Given the description of an element on the screen output the (x, y) to click on. 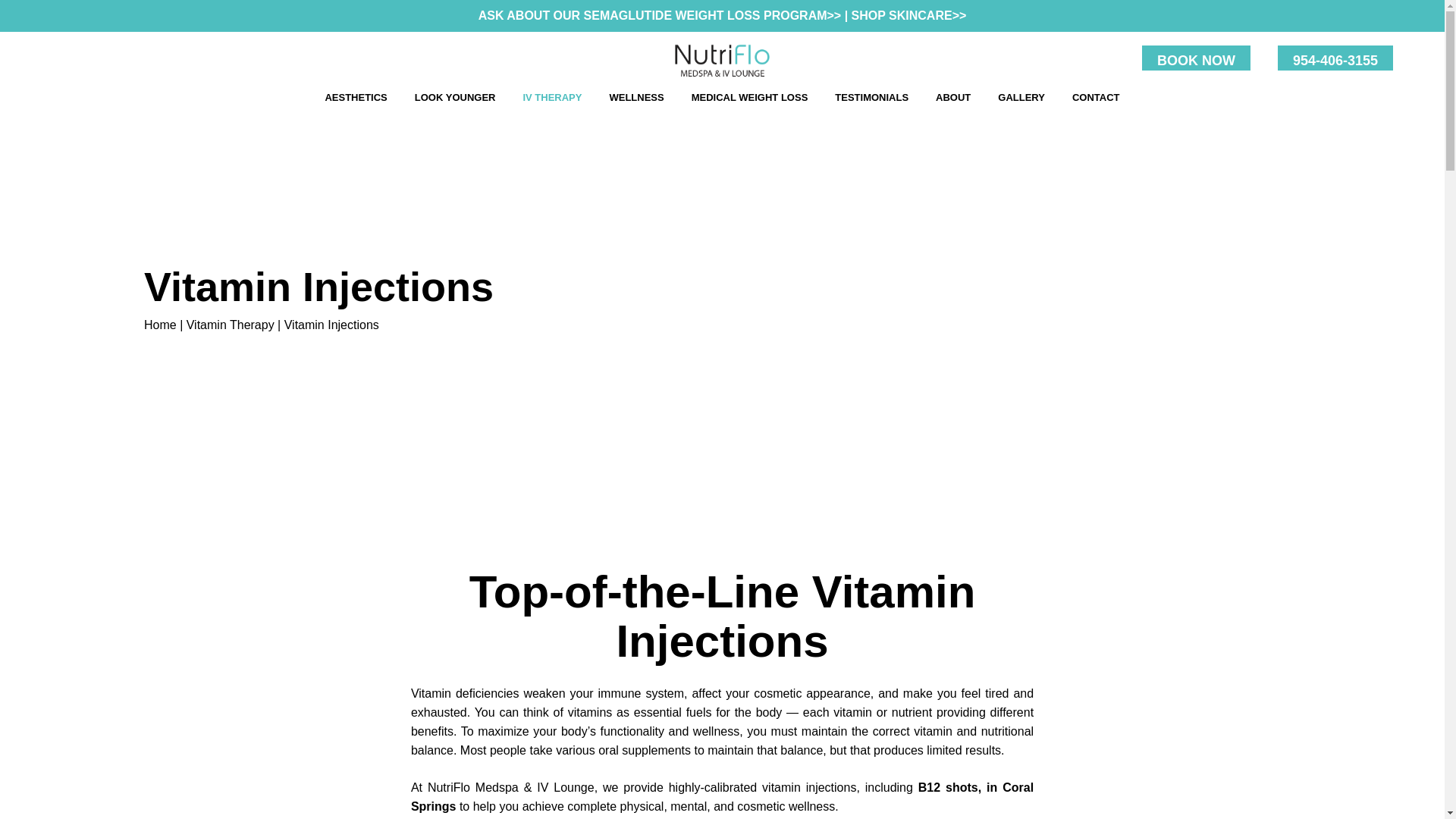
BOOK NOW (1195, 60)
954-406-3155 (1335, 60)
AESTHETICS (355, 97)
